Given the description of an element on the screen output the (x, y) to click on. 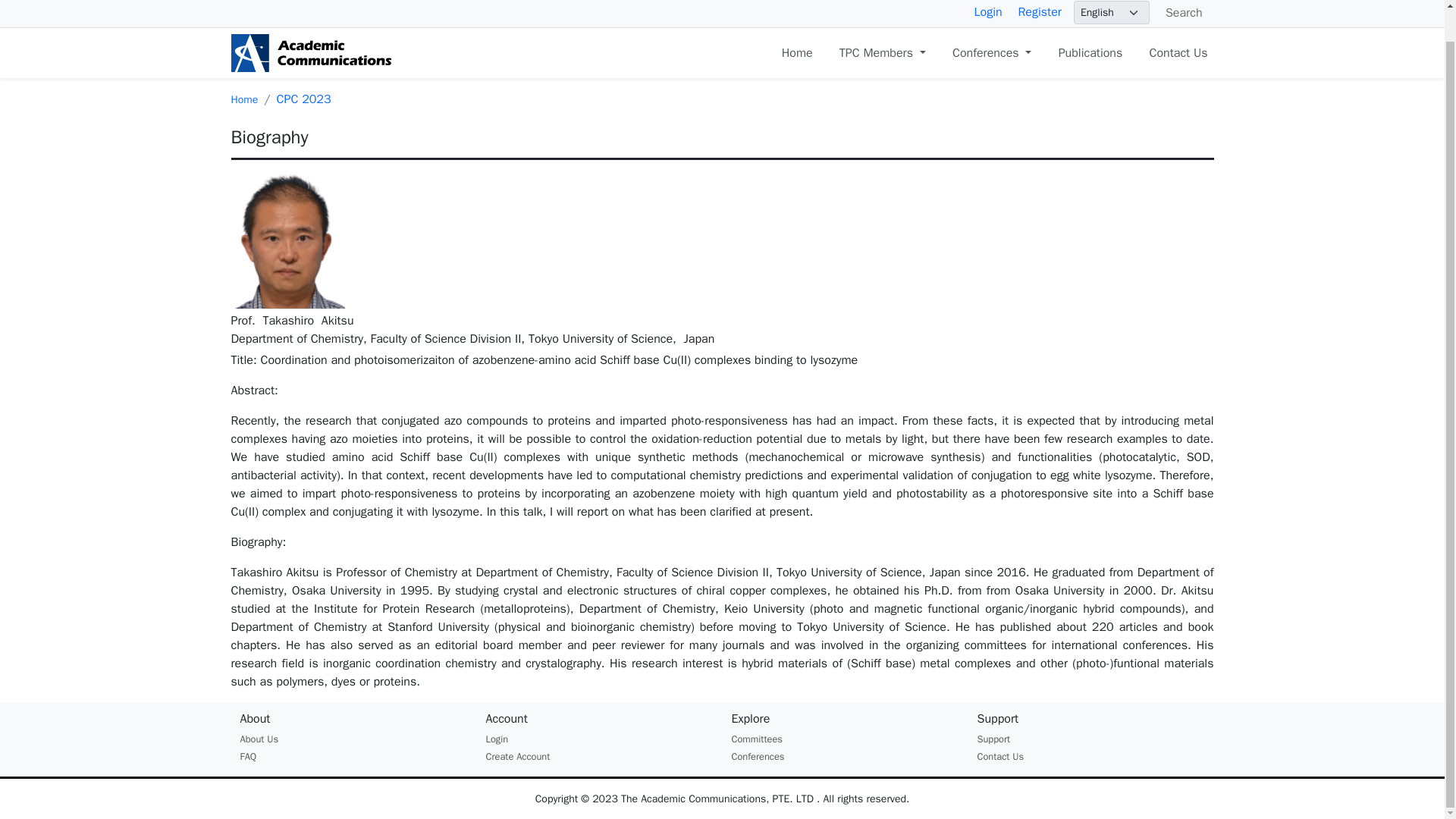
Conferences (991, 52)
Publications (1090, 52)
Home (243, 99)
Contact Us (1177, 52)
Search (1181, 13)
About Us (259, 739)
Login (496, 739)
Conferences (757, 756)
Register (1039, 11)
Create Account (517, 756)
Contact Us (999, 756)
Publications (1090, 52)
Support (993, 739)
TPC Members (881, 52)
CPC 2023 (303, 99)
